Given the description of an element on the screen output the (x, y) to click on. 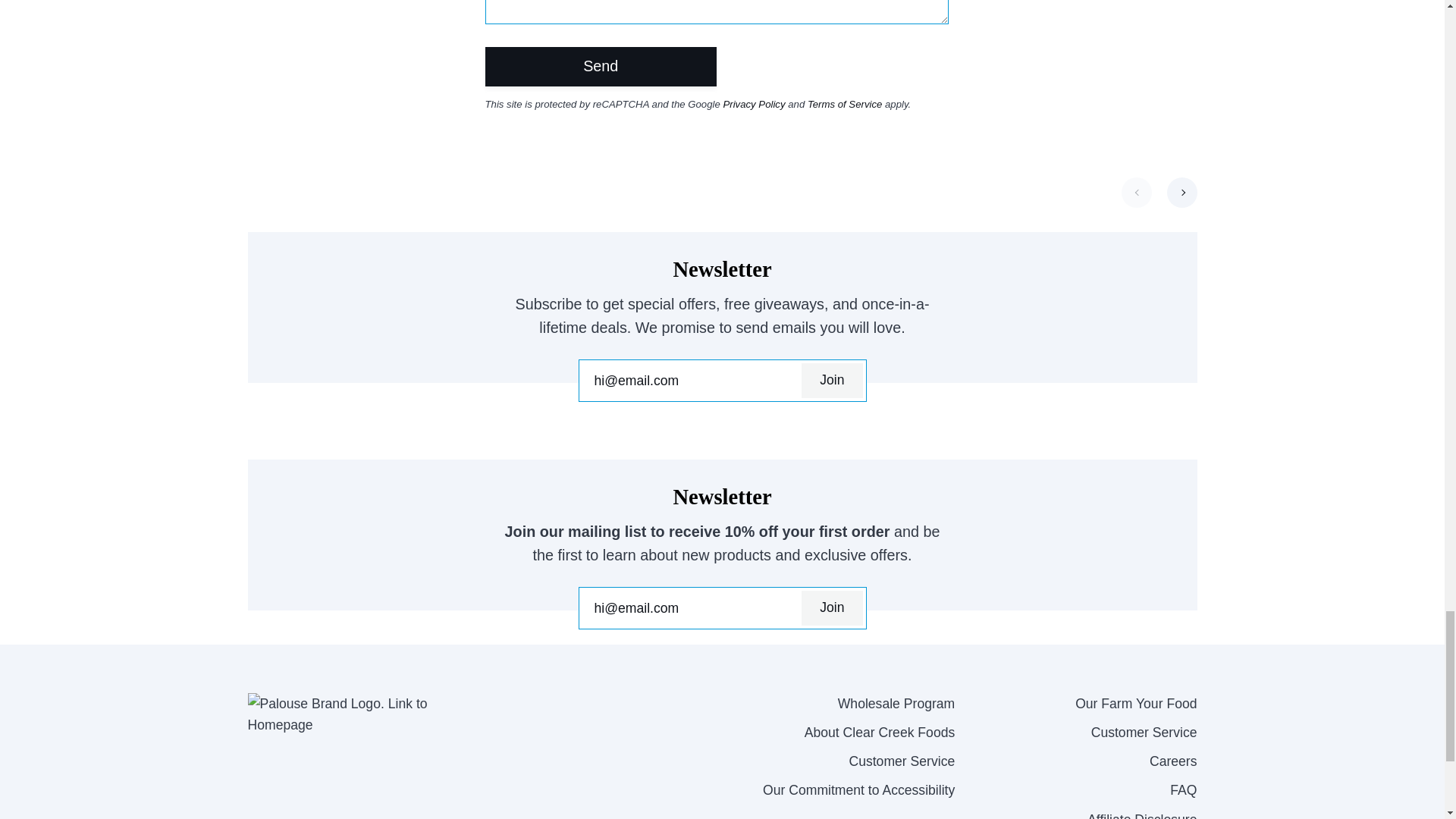
Send (600, 66)
